Given the description of an element on the screen output the (x, y) to click on. 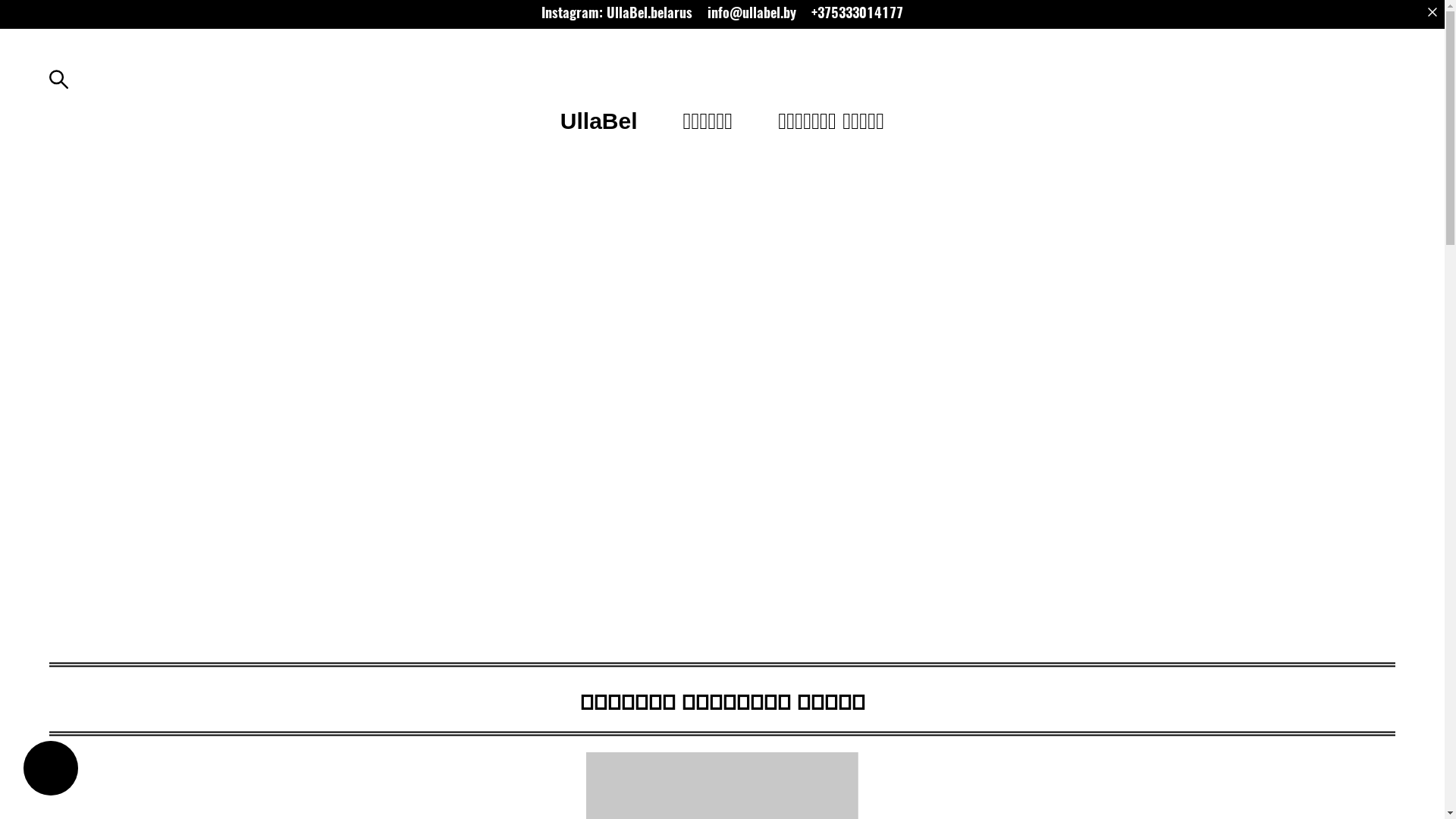
UllaBel Element type: text (598, 120)
